Given the description of an element on the screen output the (x, y) to click on. 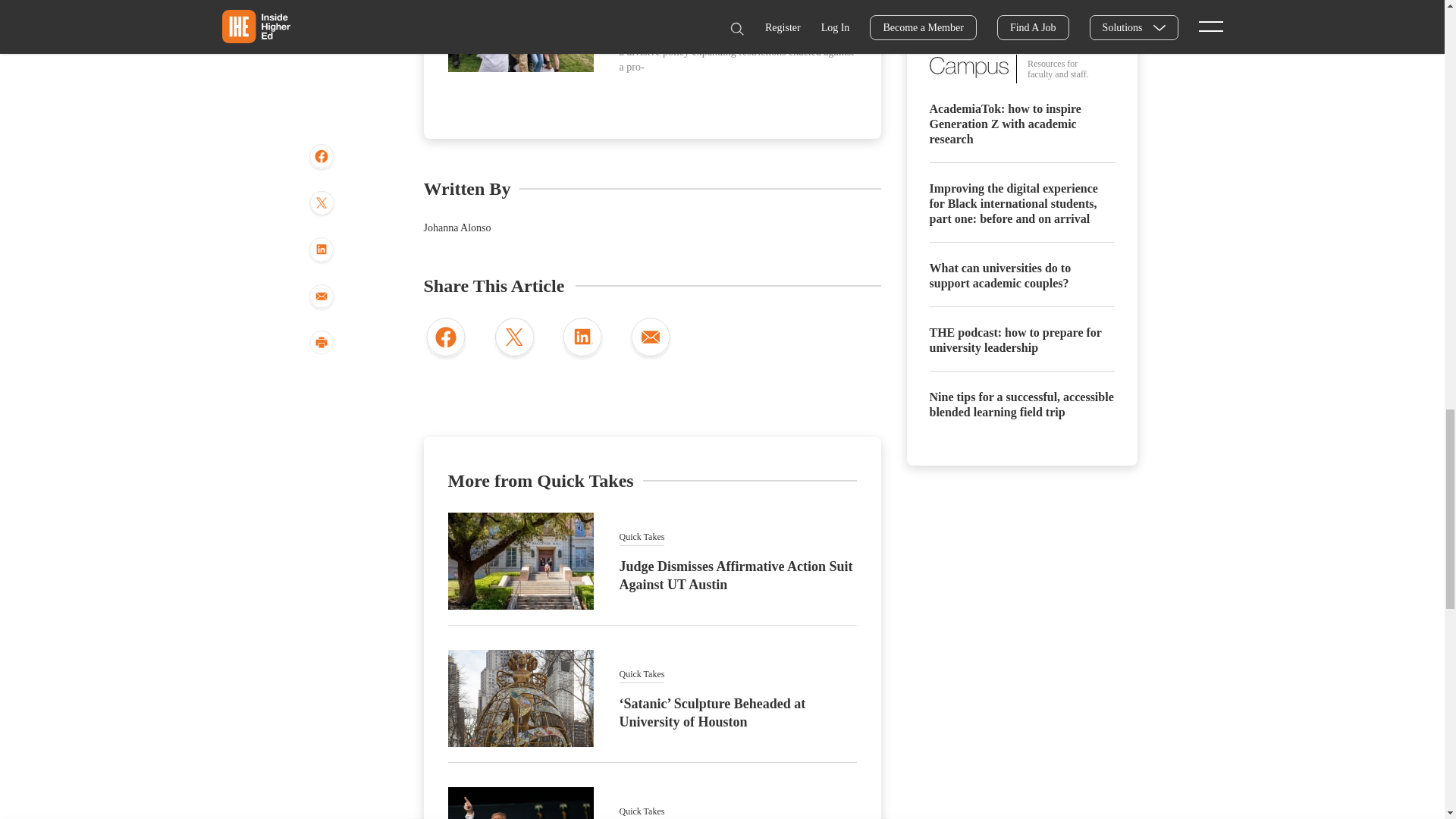
share to facebook (445, 339)
